Given the description of an element on the screen output the (x, y) to click on. 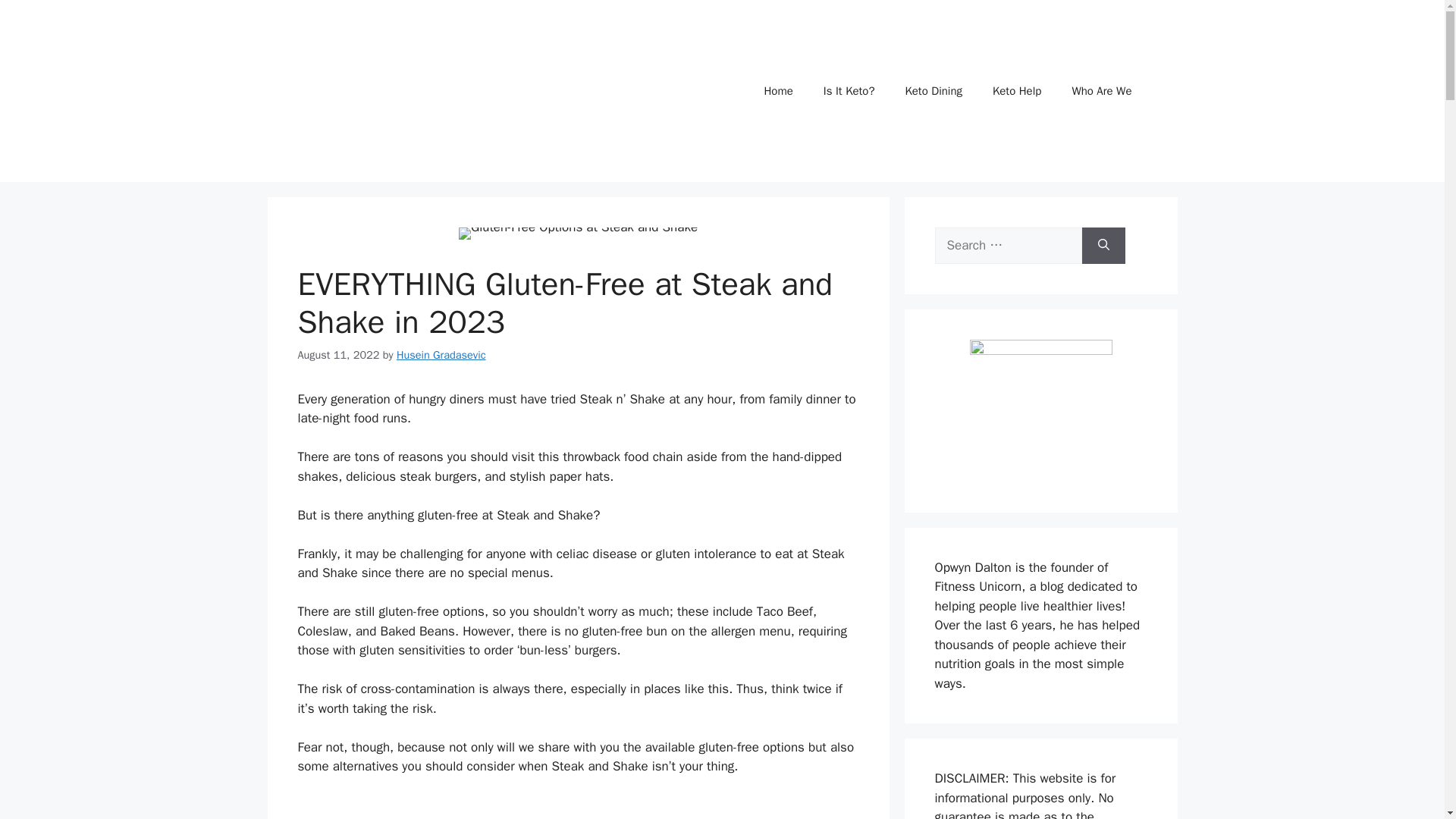
Husein Gradasevic (441, 354)
View all posts by Husein Gradasevic (441, 354)
Home (778, 90)
Keto Dining (932, 90)
Who Are We (1102, 90)
Search for: (1007, 245)
Is It Keto? (848, 90)
Keto Help (1016, 90)
